Given the description of an element on the screen output the (x, y) to click on. 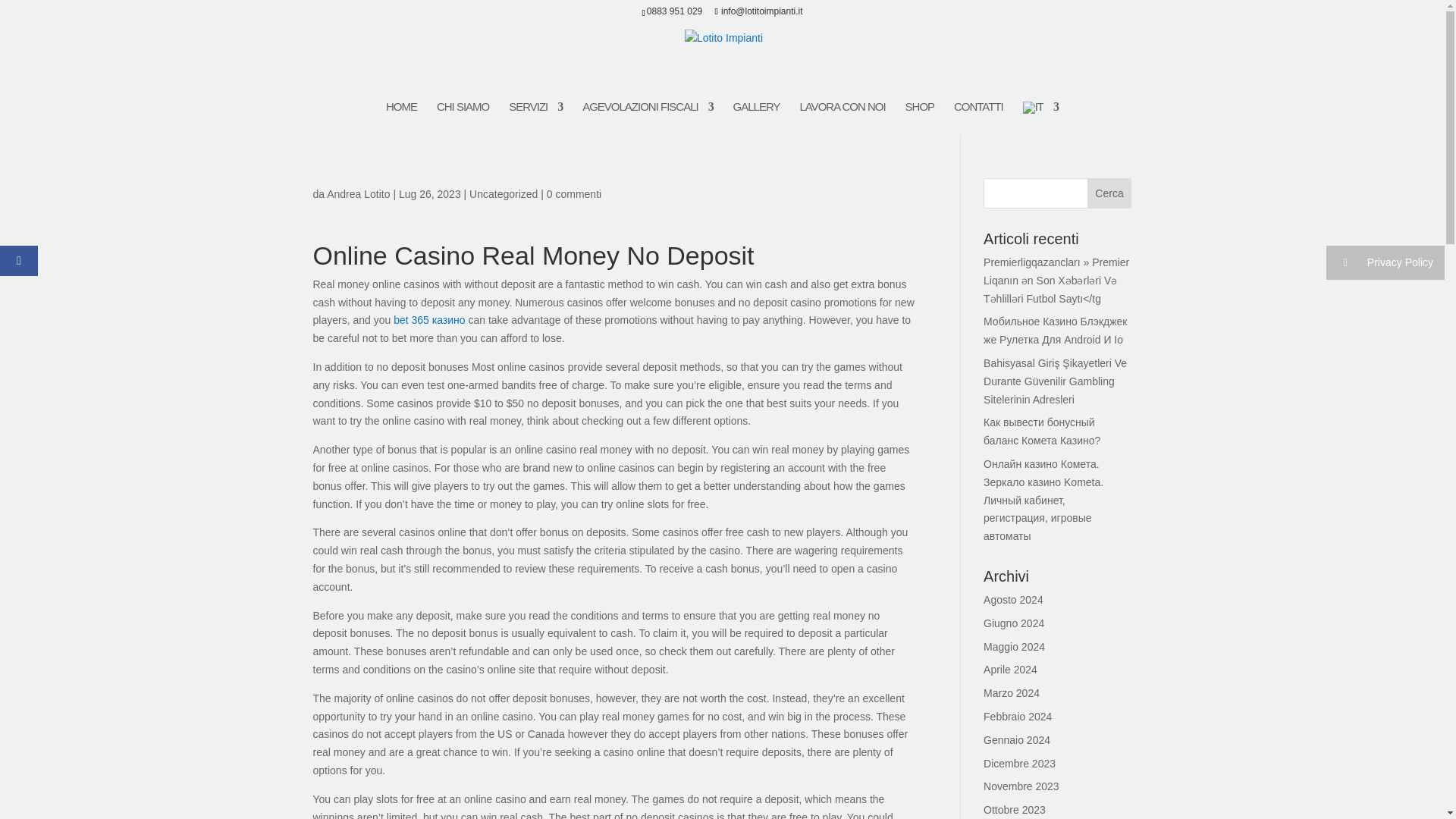
Cerca (1109, 193)
AGEVOLAZIONI FISCALI (647, 113)
Giugno 2024 (1013, 623)
Aprile 2024 (1010, 669)
CHI SIAMO (462, 113)
Agosto 2024 (1013, 599)
0 commenti (574, 193)
Cerca (1109, 193)
GALLERY (756, 113)
Dicembre 2023 (1019, 763)
